Given the description of an element on the screen output the (x, y) to click on. 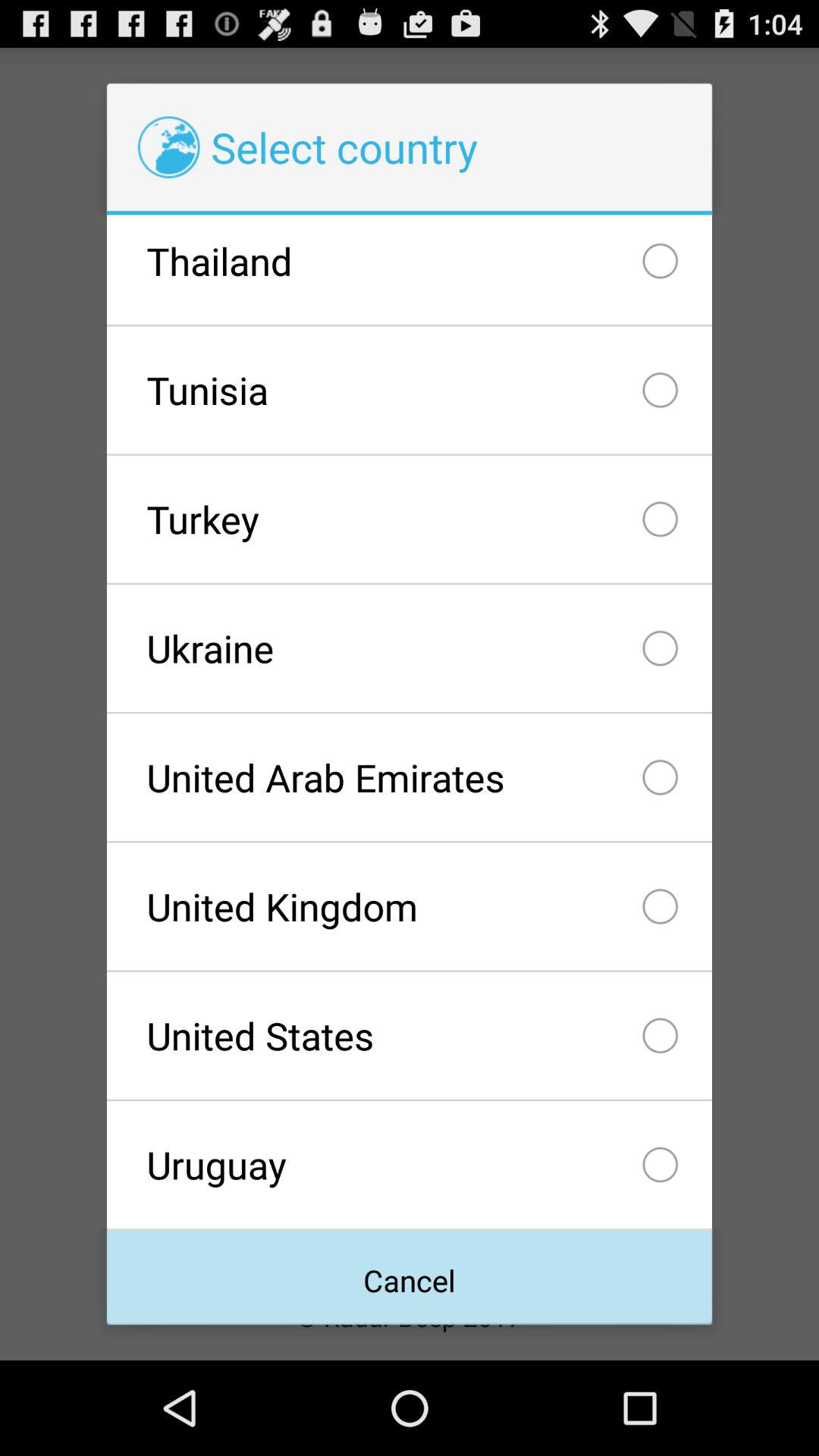
launch checkbox above tunisia icon (409, 269)
